Given the description of an element on the screen output the (x, y) to click on. 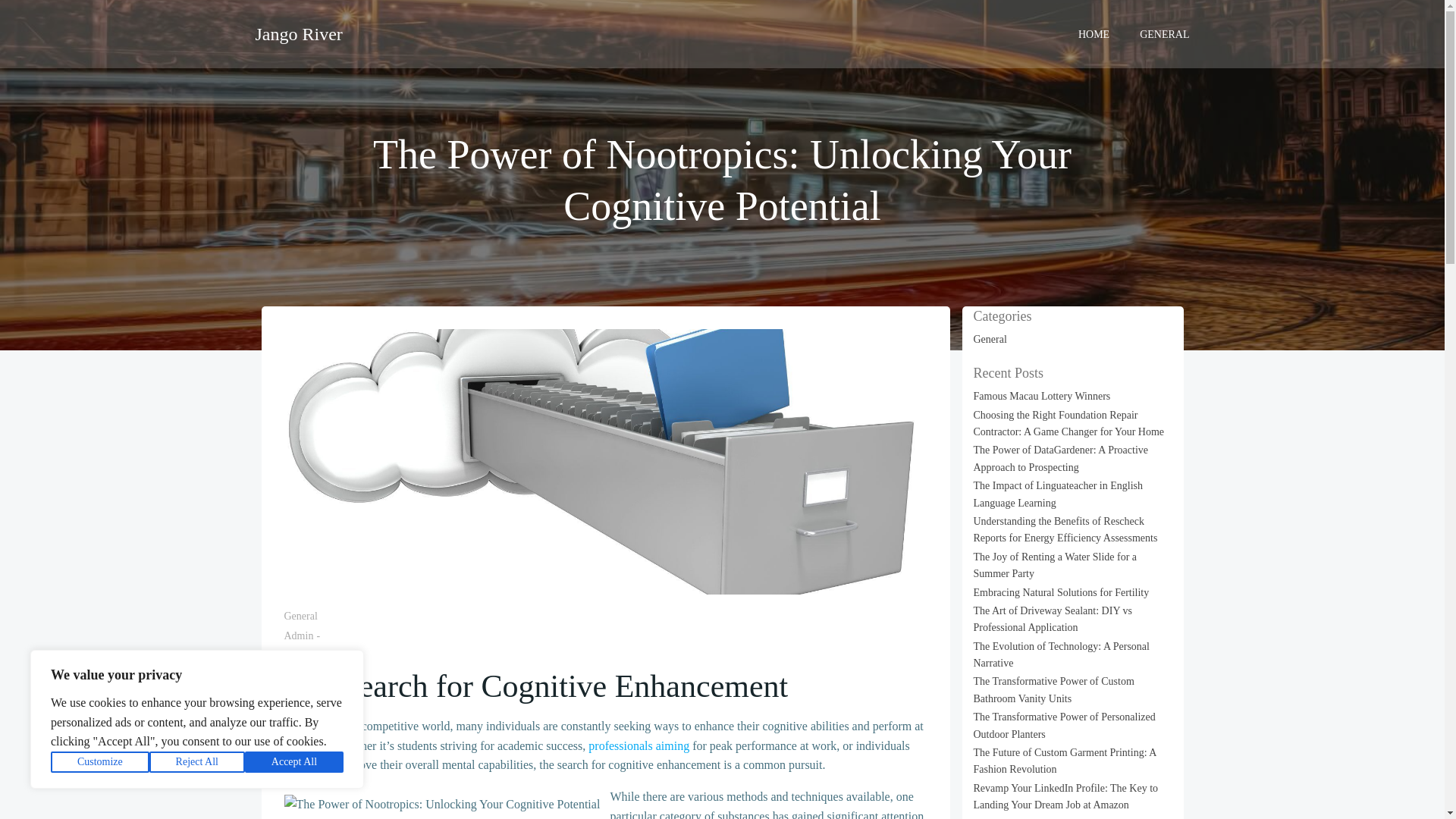
Reject All (196, 762)
HOME (1093, 33)
General (990, 338)
Accept All (293, 762)
Customize (99, 762)
Admin (298, 635)
professionals aiming (638, 745)
Famous Macau Lottery Winners (1042, 396)
General (300, 616)
Jango River (298, 33)
